Given the description of an element on the screen output the (x, y) to click on. 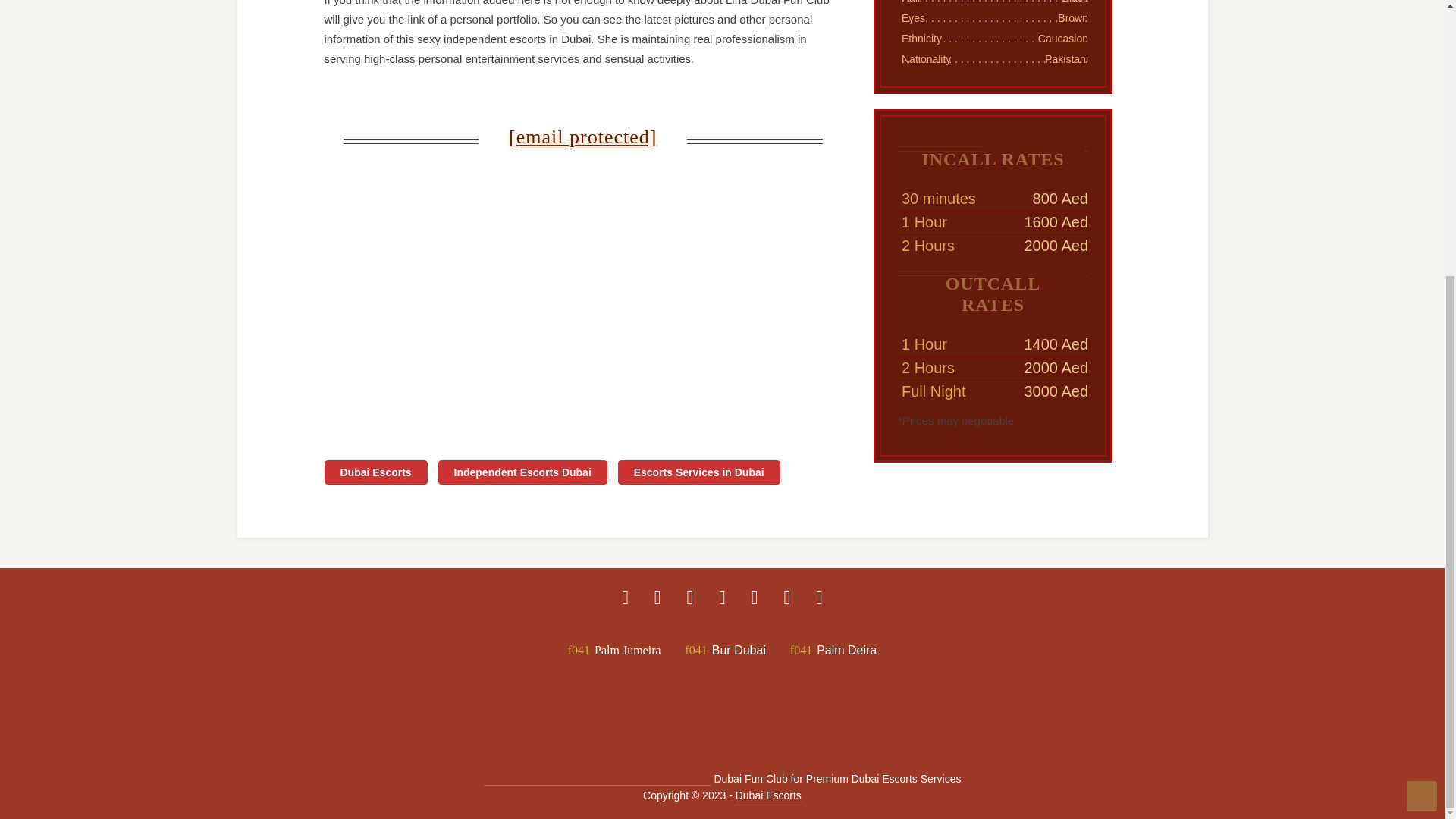
Dubai Escorts (768, 795)
Dubai Escorts (376, 472)
Bur Dubai (725, 649)
Escorts Services in Dubai (698, 472)
Independent Escorts Dubai (522, 472)
Palm Jumeira (614, 649)
DMCA.com Protection Status (597, 779)
Palm Deira (833, 649)
